Given the description of an element on the screen output the (x, y) to click on. 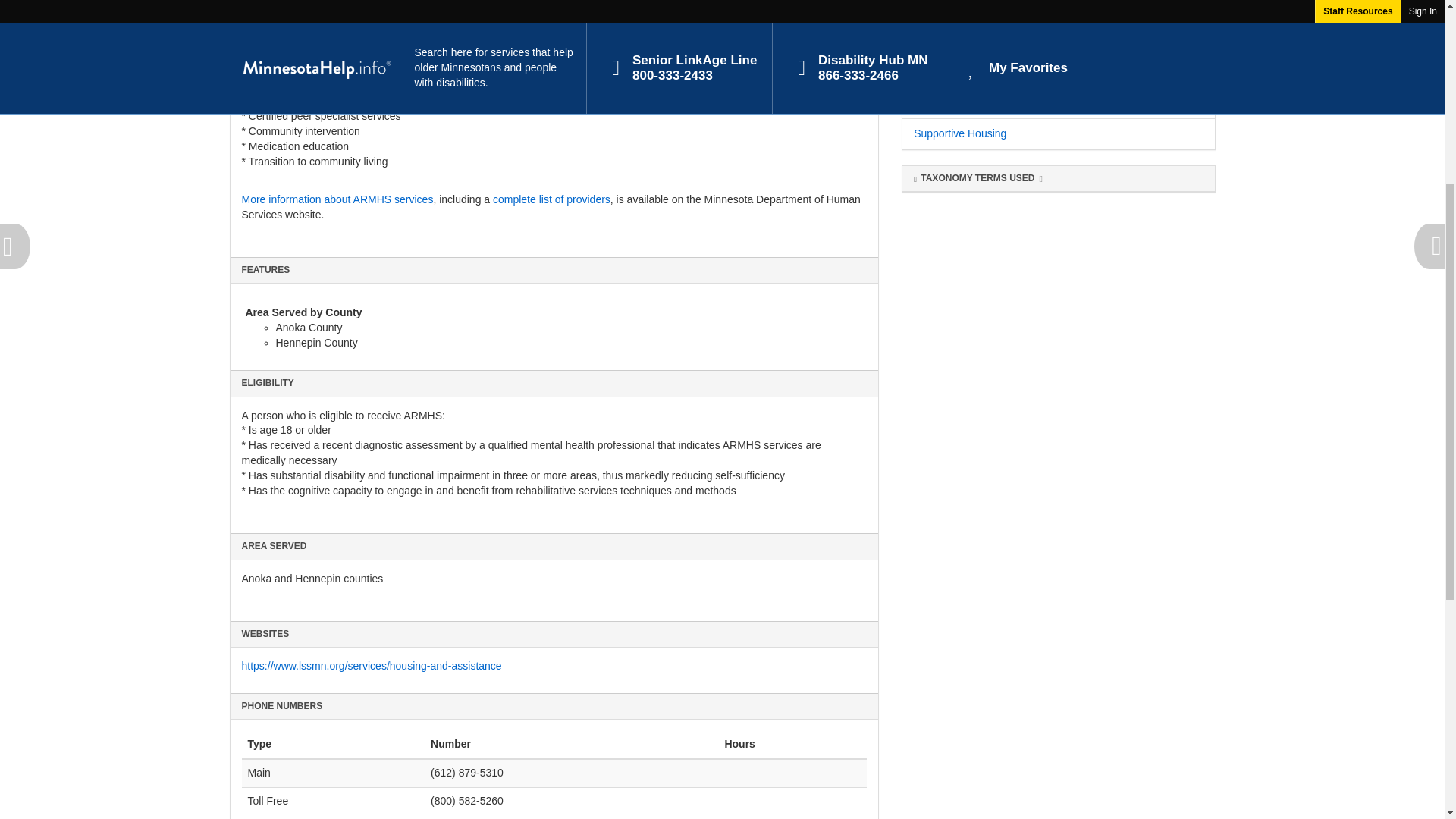
Supportive Housing (960, 133)
More information about ARMHS services (336, 199)
complete list of providers (551, 199)
